Given the description of an element on the screen output the (x, y) to click on. 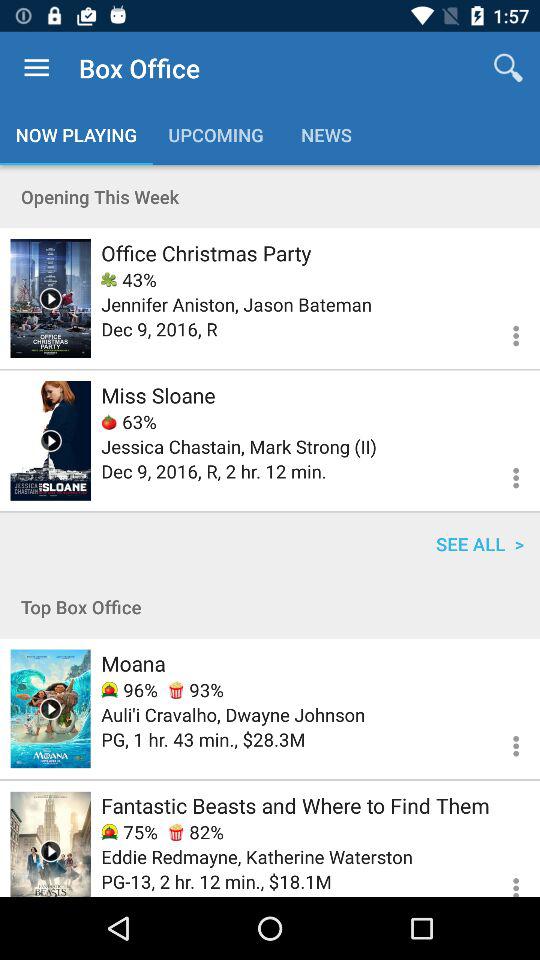
press to play (50, 708)
